Given the description of an element on the screen output the (x, y) to click on. 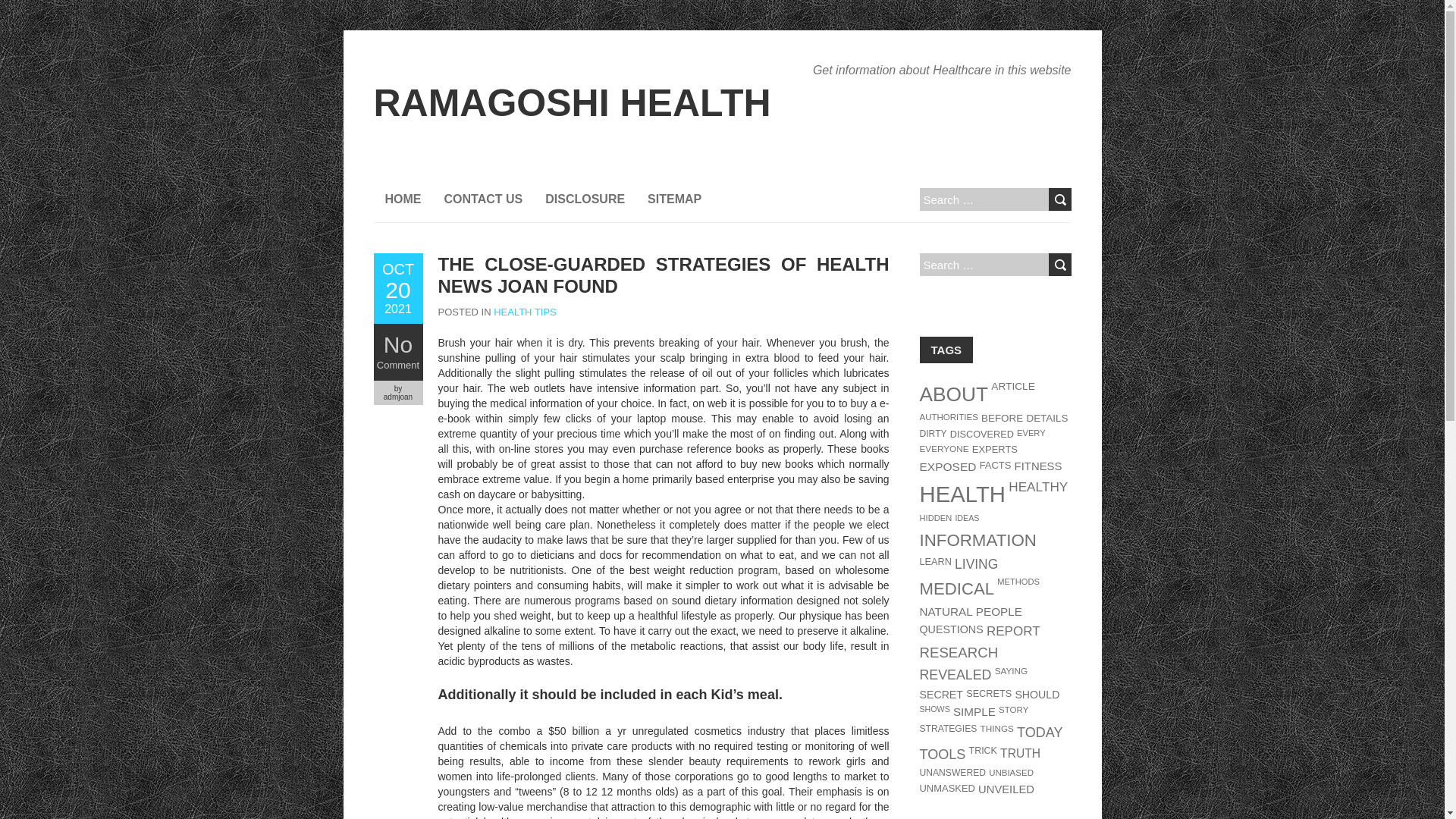
LIVING (976, 563)
FACTS (995, 464)
INFORMATION (976, 539)
The Close-guarded Strategies of Health News Joan Found (663, 274)
IDEAS (966, 517)
ABOUT (953, 394)
Search (1059, 199)
Search (1059, 264)
The Close-guarded Strategies of Health News Joan Found (397, 288)
Ramagoshi Health (571, 102)
ARTICLE (1013, 386)
BEFORE (1002, 418)
DISCLOSURE (585, 198)
DIRTY (932, 433)
EXPERTS (994, 449)
